Given the description of an element on the screen output the (x, y) to click on. 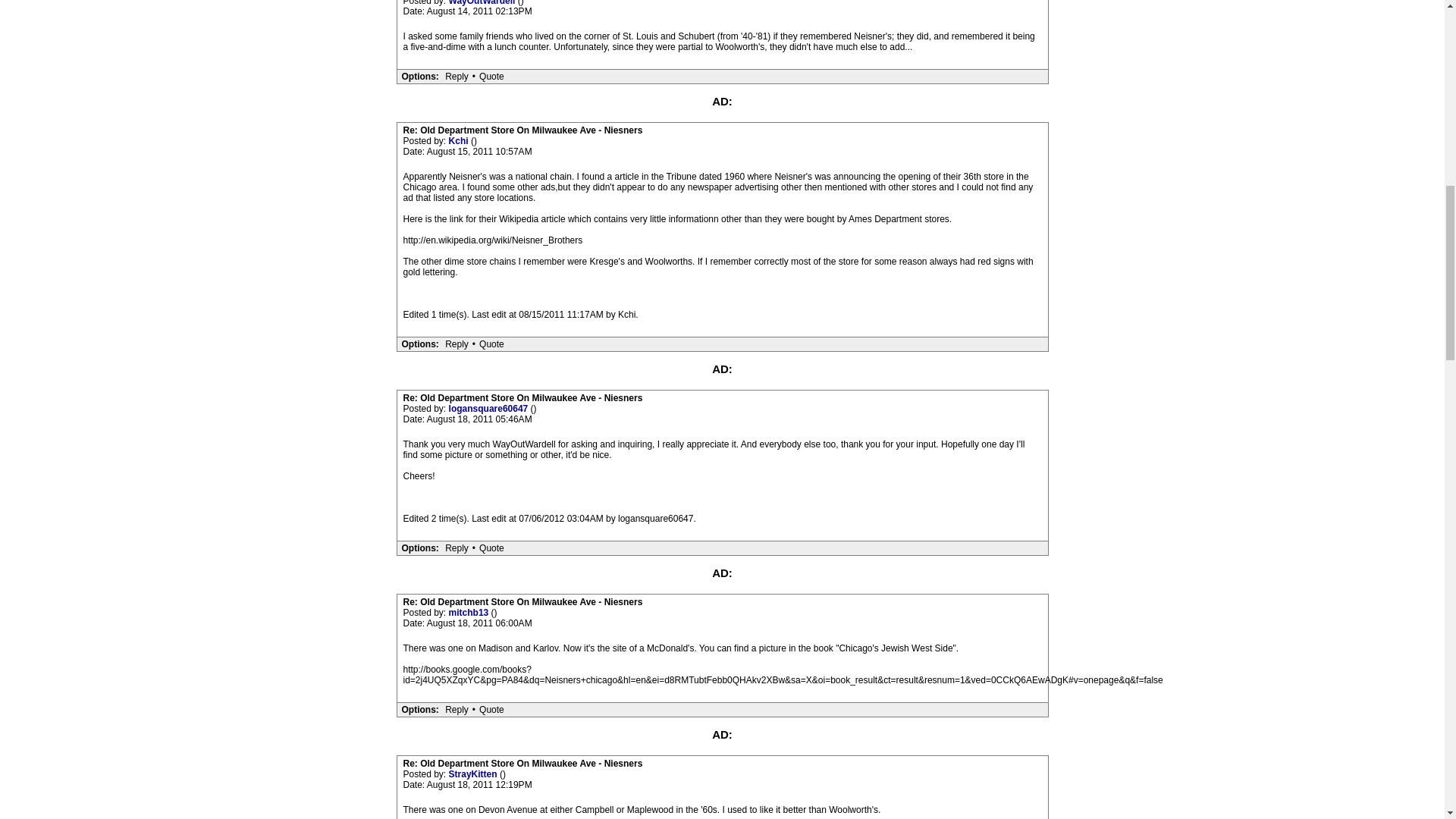
Reply (456, 344)
mitchb13 (470, 612)
Reply (456, 548)
Quote (492, 548)
logansquare60647 (489, 408)
Reply (456, 709)
Quote (492, 76)
Kchi (459, 140)
WayOutWardell (483, 2)
Reply (456, 76)
